Given the description of an element on the screen output the (x, y) to click on. 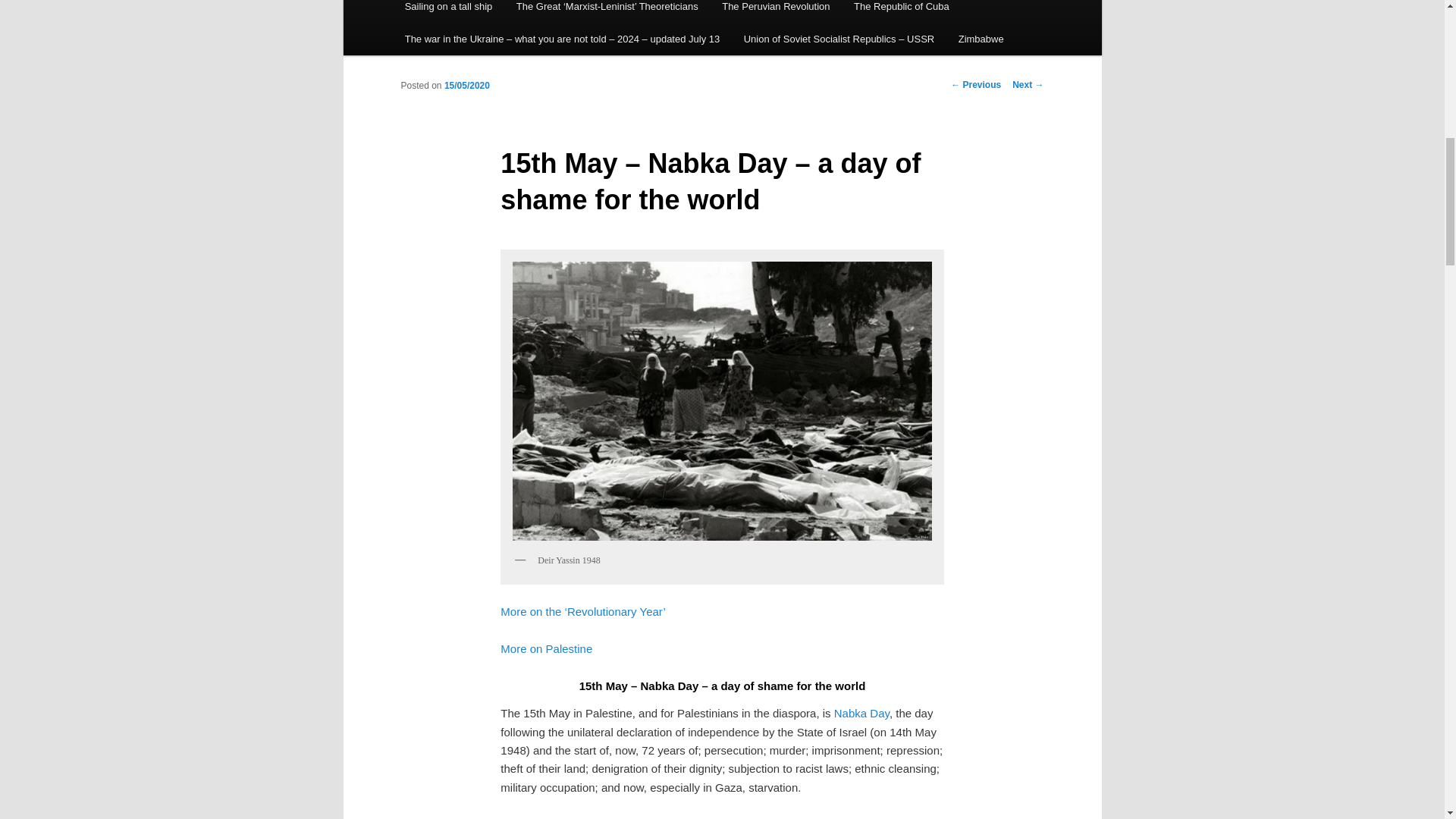
More on Palestine (546, 648)
Zimbabwe (980, 38)
Sailing on a tall ship (448, 11)
The Peruvian Revolution (775, 11)
The Republic of Cuba (900, 11)
Nabka Day (861, 712)
